Given the description of an element on the screen output the (x, y) to click on. 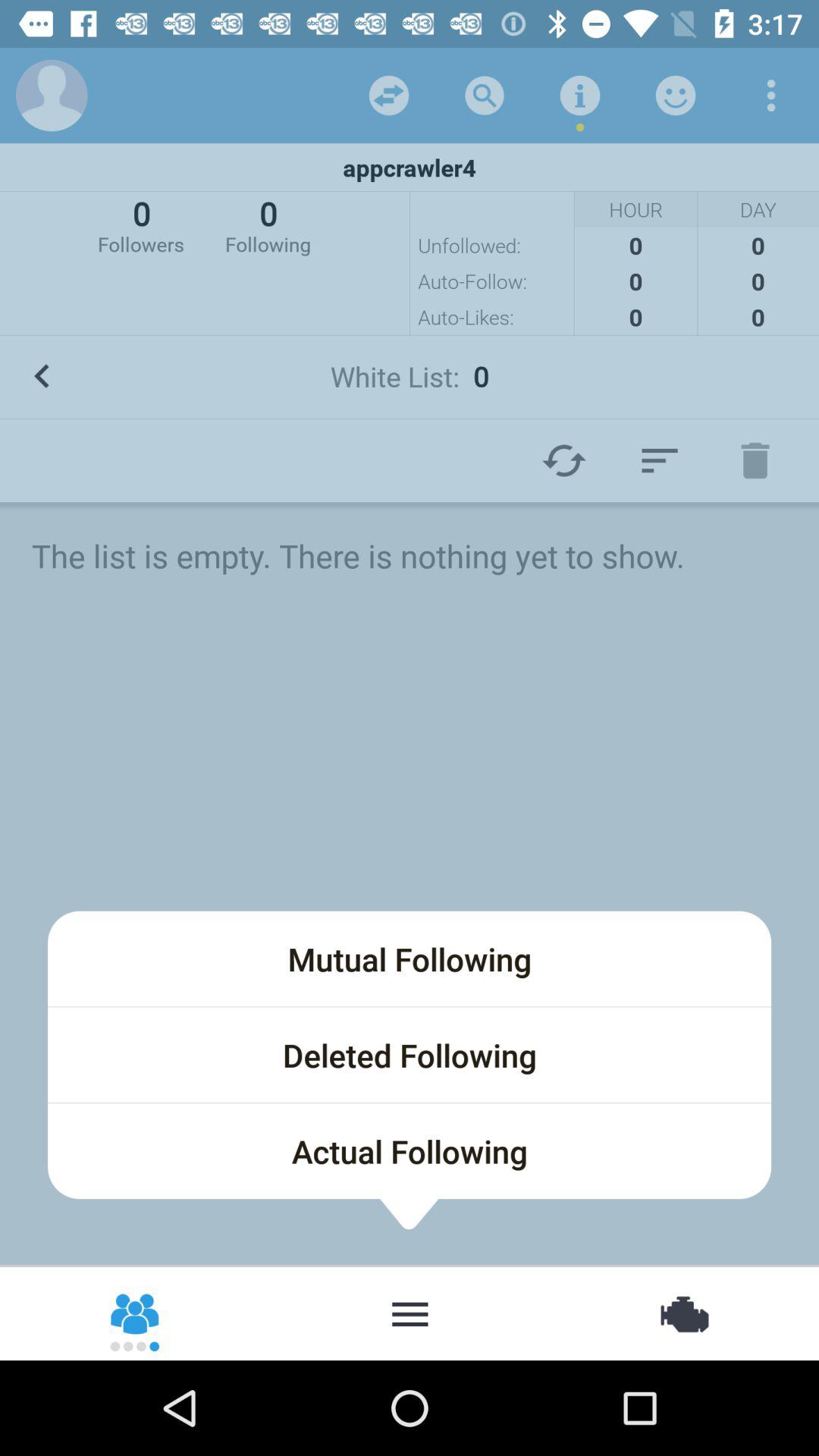
search user (484, 95)
